Given the description of an element on the screen output the (x, y) to click on. 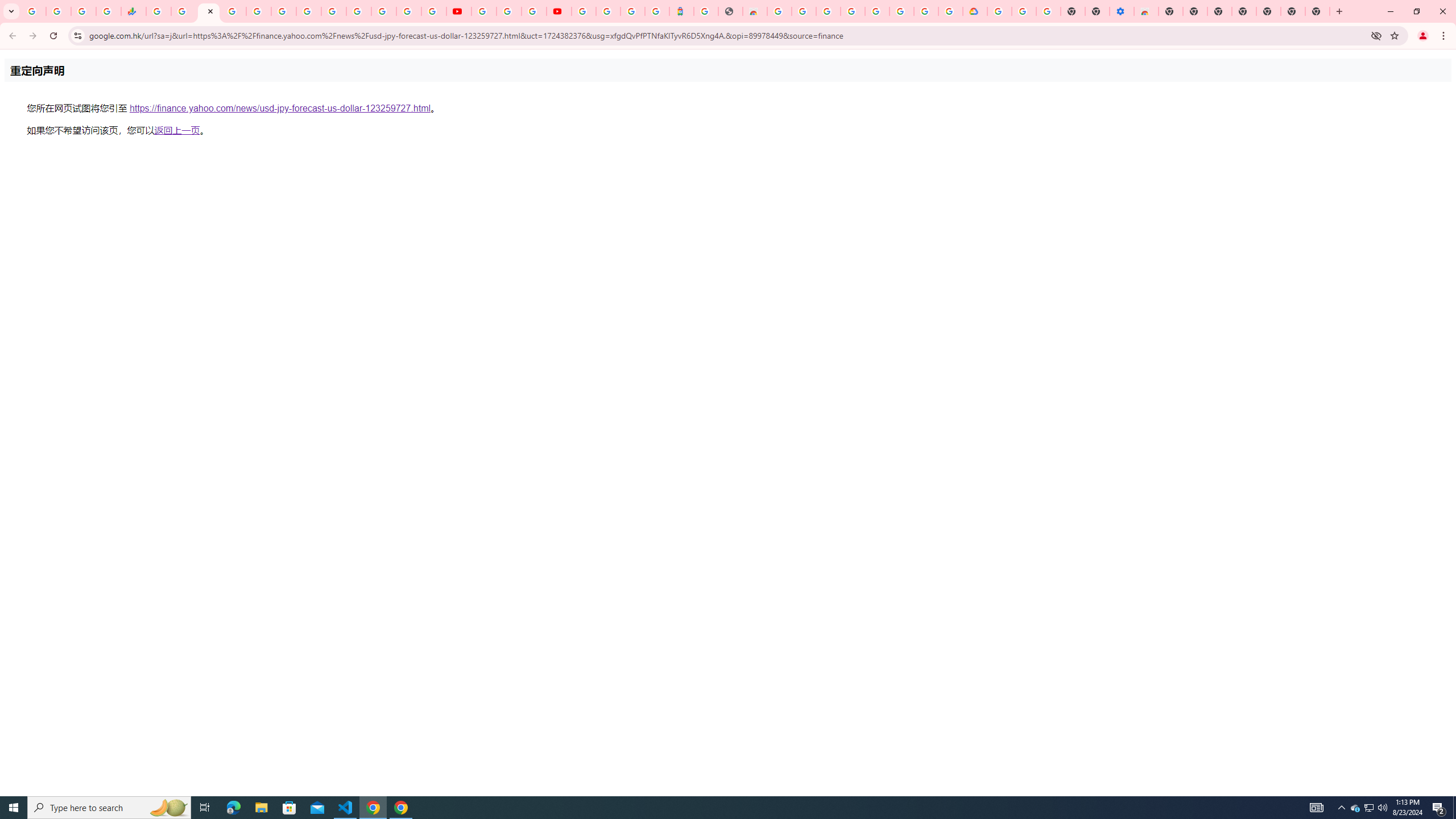
Google Account Help (509, 11)
